Given the description of an element on the screen output the (x, y) to click on. 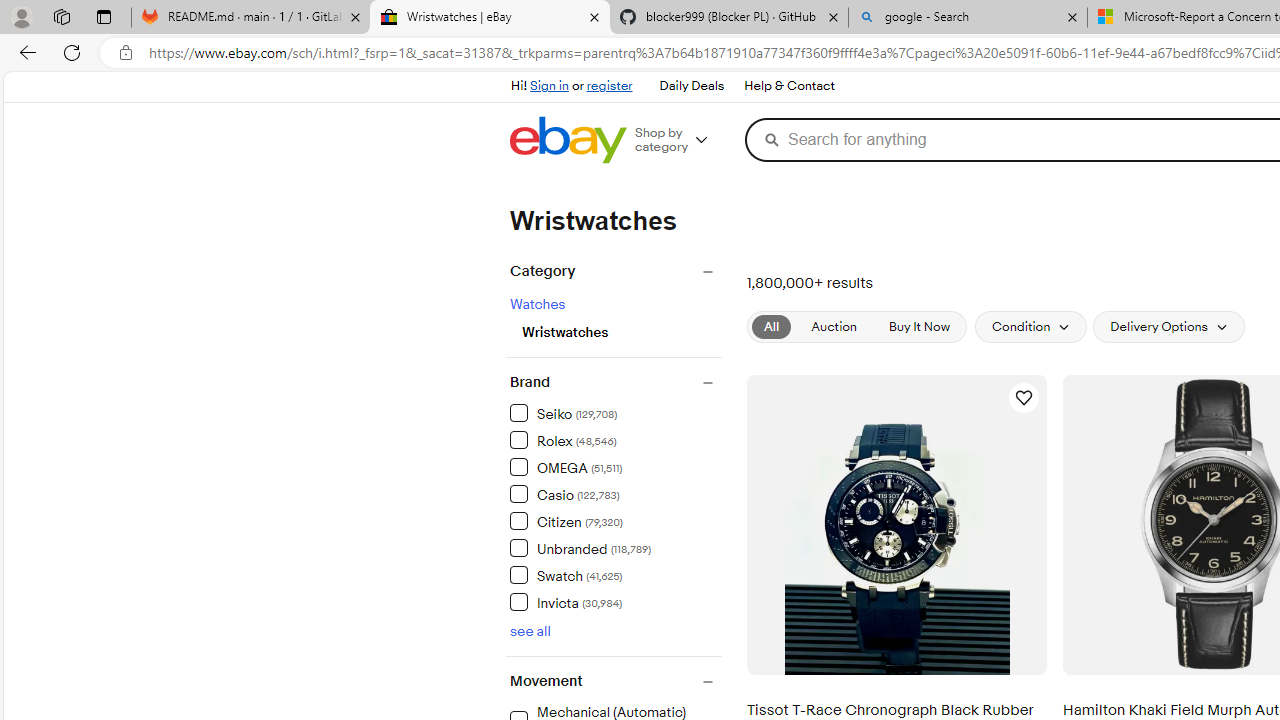
OMEGA(51,511) Items (615, 466)
Watches (537, 304)
Daily Deals (690, 85)
eBay Home (568, 139)
Invicta (30,984) Items (566, 602)
Wristwatches | eBay (490, 17)
Selected categoryWristwatches (621, 329)
Buy It Now (918, 326)
Movement (615, 682)
Rolex(48,546) Items (615, 439)
Category (615, 271)
Buy It Now (918, 327)
